Given the description of an element on the screen output the (x, y) to click on. 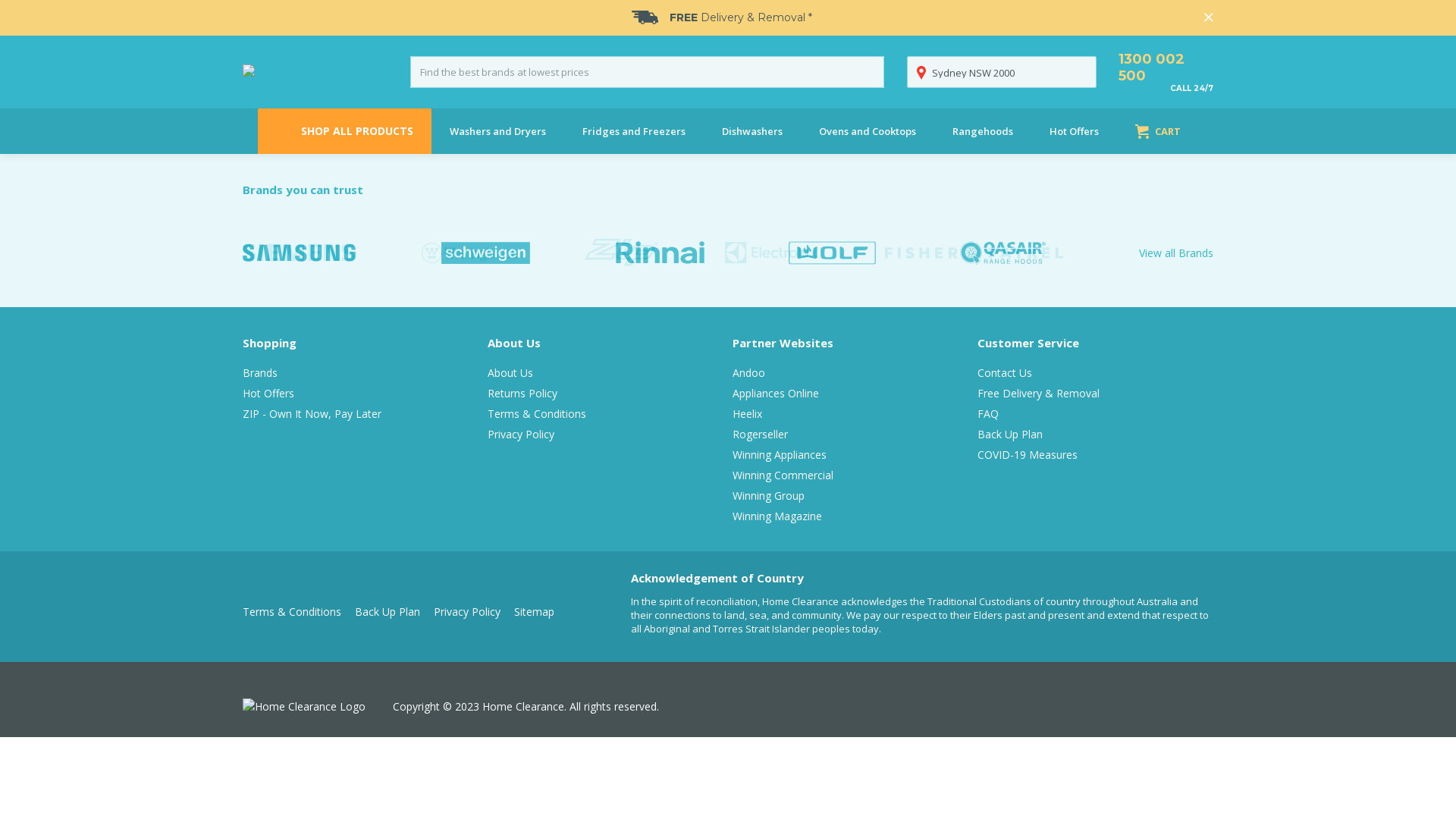
Back Up Plan Element type: text (1009, 434)
Free Delivery & Removal Element type: text (1038, 393)
CART Element type: text (1157, 130)
1300 002 500 Element type: text (1165, 67)
Ovens and Cooktops Element type: text (867, 130)
View all Brands Element type: text (1171, 252)
Fridges and Freezers Element type: text (633, 130)
ZIP - Own It Now, Pay Later Element type: text (311, 413)
Winning Group Element type: text (768, 495)
Back Up Plan Element type: text (393, 611)
Rangehoods Element type: text (982, 130)
Washers and Dryers Element type: text (496, 130)
Winning Appliances Element type: text (779, 454)
Andoo Element type: text (748, 372)
Terms & Conditions Element type: text (298, 611)
FAQ Element type: text (987, 413)
Heelix Element type: text (747, 413)
Winning Commercial Element type: text (782, 475)
Sitemap Element type: text (540, 611)
Contact Us Element type: text (1004, 372)
About Us Element type: text (510, 372)
Shopping Element type: text (269, 342)
Hot Offers Element type: text (1073, 130)
Privacy Policy Element type: text (520, 434)
SHOP ALL PRODUCTS Element type: text (342, 130)
Winning Magazine Element type: text (777, 516)
Rogerseller Element type: text (759, 434)
COVID-19 Measures Element type: text (1027, 454)
Appliances Online Element type: text (775, 393)
Dishwashers Element type: text (751, 130)
Returns Policy Element type: text (522, 393)
Brands Element type: text (259, 372)
Terms & Conditions Element type: text (536, 413)
Hot Offers Element type: text (268, 393)
Privacy Policy Element type: text (473, 611)
